Given the description of an element on the screen output the (x, y) to click on. 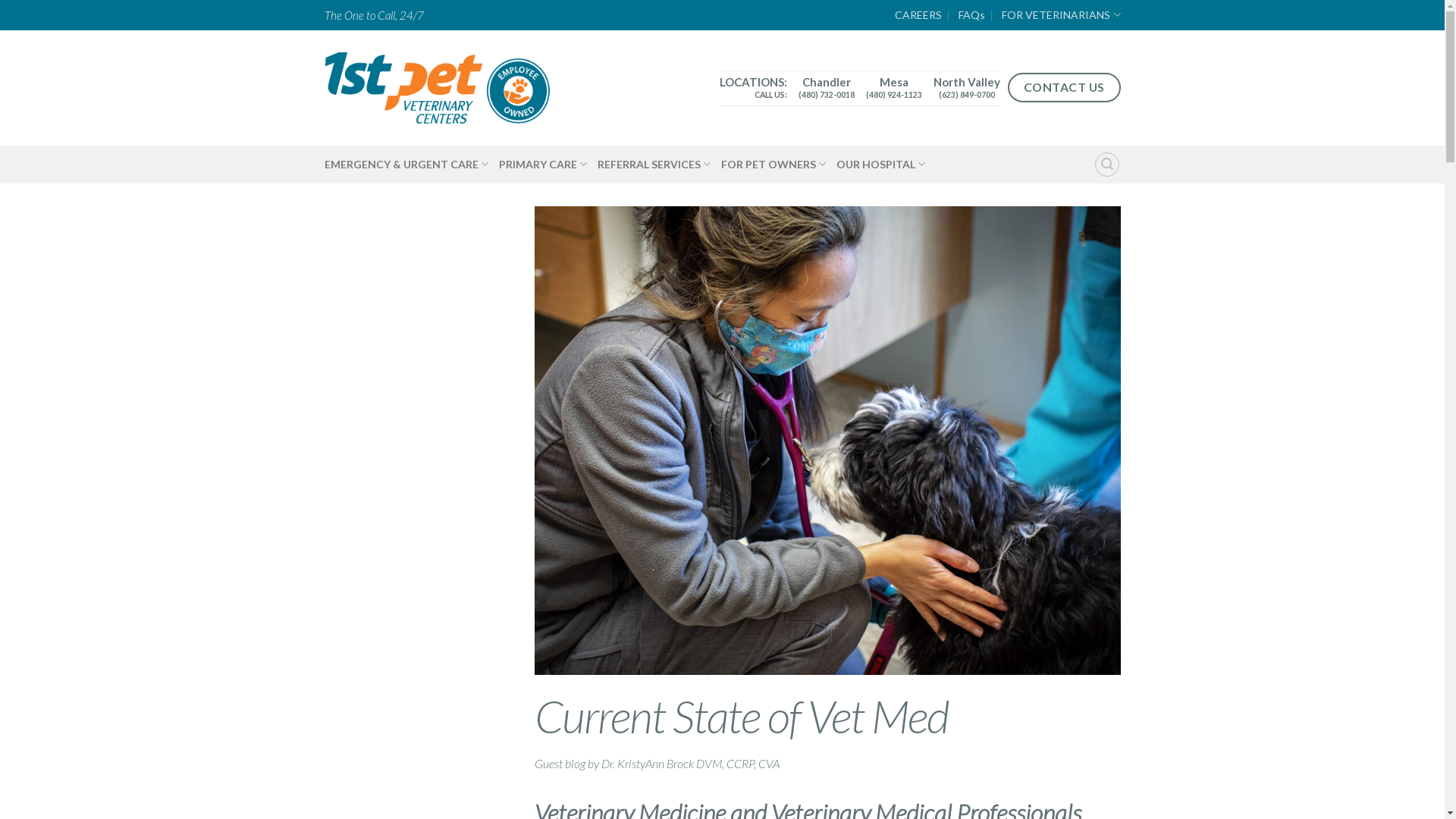
(623) 849-0700 Element type: text (966, 93)
FAQs Element type: text (971, 15)
OUR HOSPITAL Element type: text (880, 164)
North Valley Element type: text (966, 81)
(480) 732-0018 Element type: text (826, 93)
Mesa Element type: text (893, 81)
(480) 924-1123 Element type: text (894, 93)
FOR PET OWNERS Element type: text (773, 164)
PRIMARY CARE Element type: text (542, 164)
REFERRAL SERVICES Element type: text (653, 164)
CONTACT US Element type: text (1063, 87)
Chandler Element type: text (826, 81)
LOCATIONS: Element type: text (753, 81)
EMERGENCY & URGENT CARE Element type: text (406, 164)
FOR VETERINARIANS Element type: text (1060, 15)
CAREERS Element type: text (917, 15)
1st Pet Vet - 1st Pet Veterinary Centers in Arizona Element type: hover (438, 87)
